Given the description of an element on the screen output the (x, y) to click on. 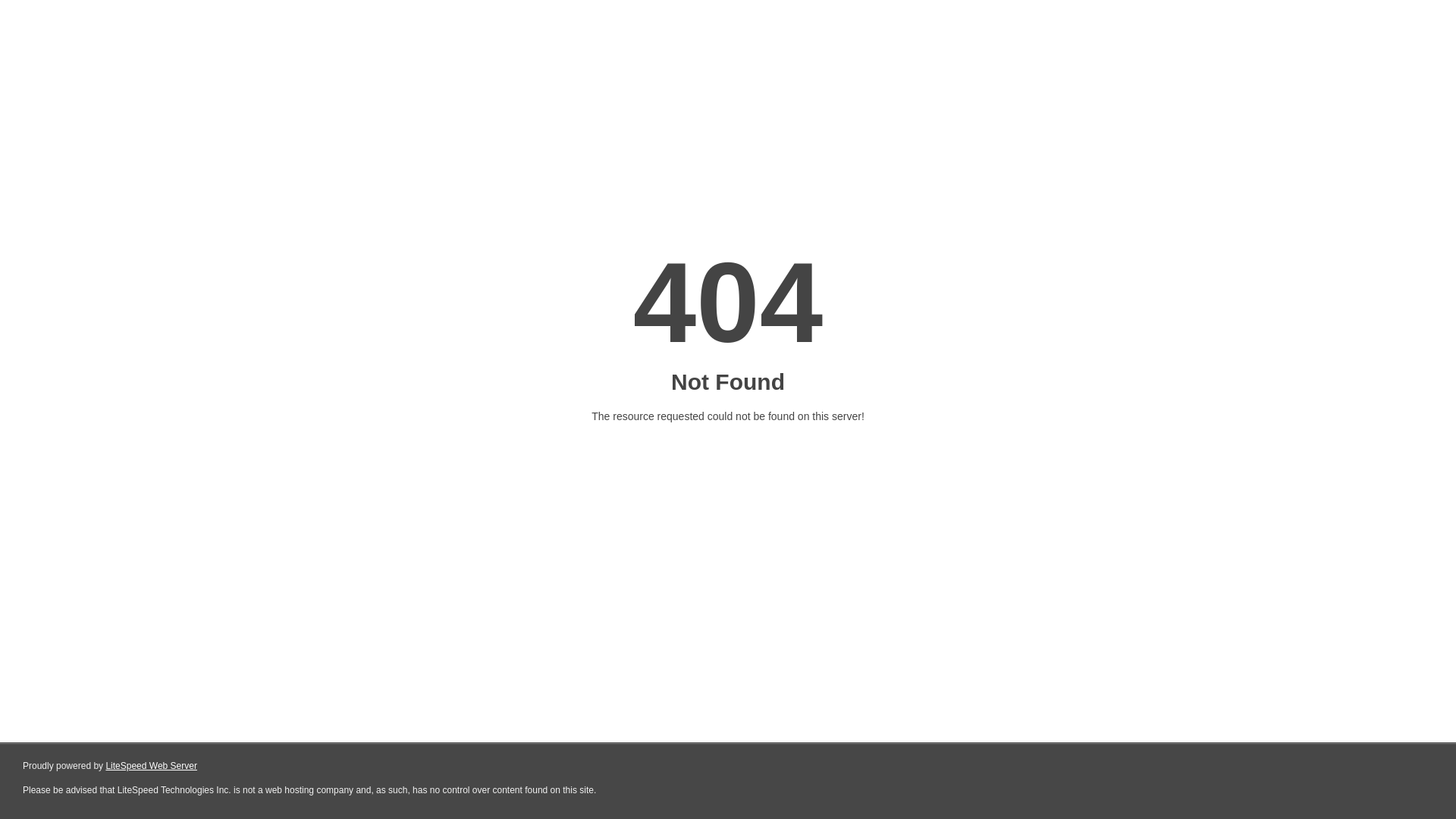
LiteSpeed Web Server Element type: text (151, 765)
